Given the description of an element on the screen output the (x, y) to click on. 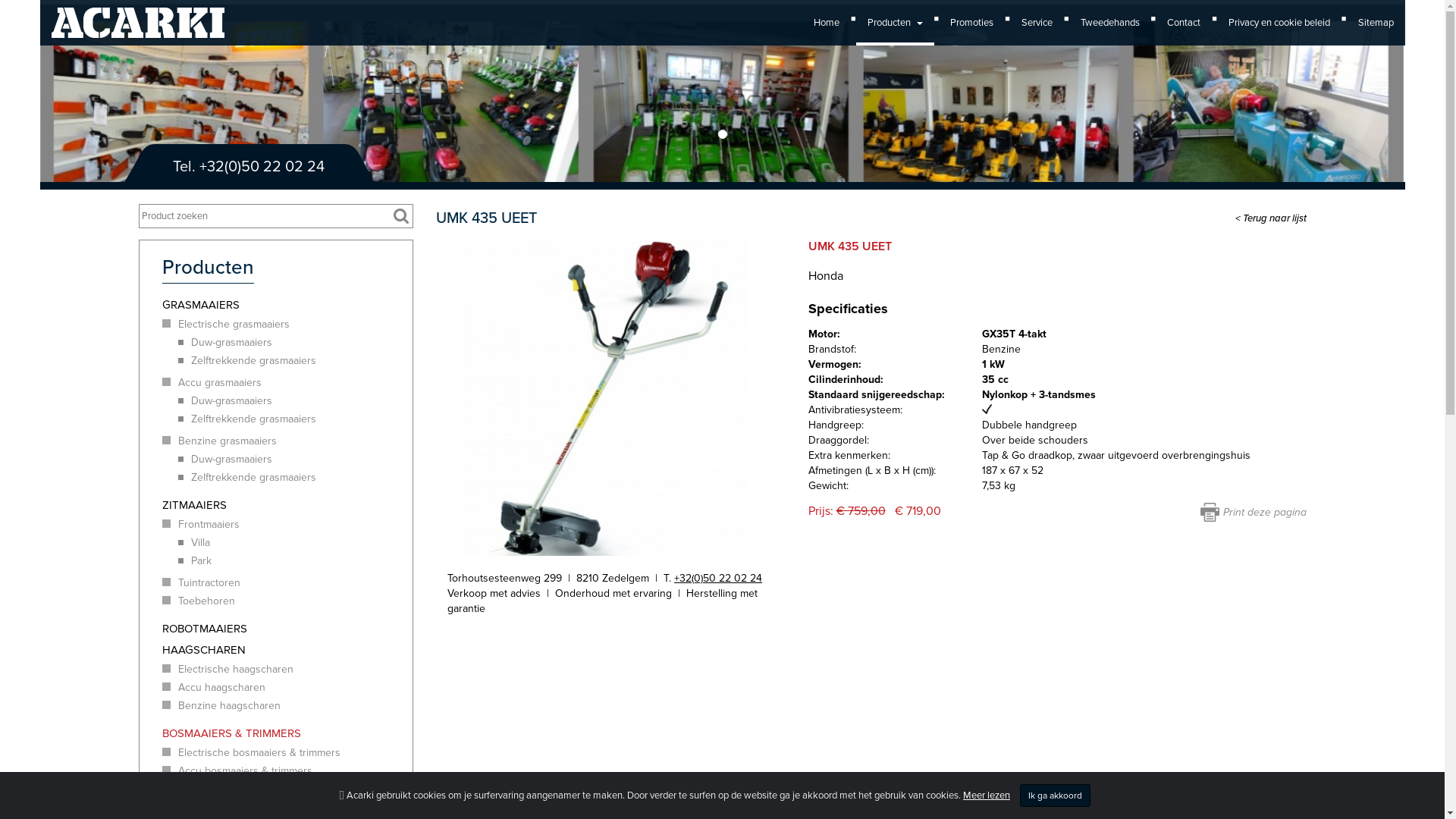
Frontmaaiers Element type: text (287, 524)
Villa Element type: text (294, 542)
Sitemap Element type: text (1375, 22)
Print deze pagina Element type: text (1252, 511)
BOSMAAIERS & TRIMMERS Element type: text (287, 732)
Zelftrekkende grasmaaiers Element type: text (294, 477)
Benzine bosmaaiers & trimmers Element type: text (287, 789)
Electrische bosmaaiers & trimmers Element type: text (287, 752)
Duw-grasmaaiers Element type: text (294, 401)
Duw-grasmaaiers Element type: text (294, 459)
Producten   Element type: text (895, 22)
Benzine grasmaaiers Element type: text (287, 441)
Benzine haagscharen Element type: text (287, 705)
ZITMAAIERS Element type: text (287, 504)
HAAGSCHAREN Element type: text (287, 649)
Promoties Element type: text (971, 22)
+32(0)50 22 02 24 Element type: text (718, 577)
ROBOTMAAIERS Element type: text (287, 628)
Homepage Acarki Element type: hover (138, 15)
Privacy en cookie beleid Element type: text (1279, 22)
+32(0)50 22 02 24 Element type: text (260, 166)
Tweedehands Element type: text (1110, 22)
Zelftrekkende grasmaaiers Element type: text (294, 360)
Contact Element type: text (1183, 22)
Toebehoren Element type: text (287, 601)
Electrische haagscharen Element type: text (287, 669)
Accu bosmaaiers & trimmers Element type: text (287, 771)
Ik ga akkoord Element type: text (1054, 795)
Meer lezen Element type: text (986, 795)
Electrische grasmaaiers Element type: text (287, 324)
Duw-grasmaaiers Element type: text (294, 342)
GRASMAAIERS Element type: text (287, 304)
Park Element type: text (294, 561)
Accu grasmaaiers Element type: text (287, 382)
Tuintractoren Element type: text (287, 583)
Zelftrekkende grasmaaiers Element type: text (294, 419)
Home Element type: text (826, 22)
Service Element type: text (1036, 22)
< Terug naar lijst Element type: text (1269, 218)
Accu haagscharen Element type: text (287, 687)
